Given the description of an element on the screen output the (x, y) to click on. 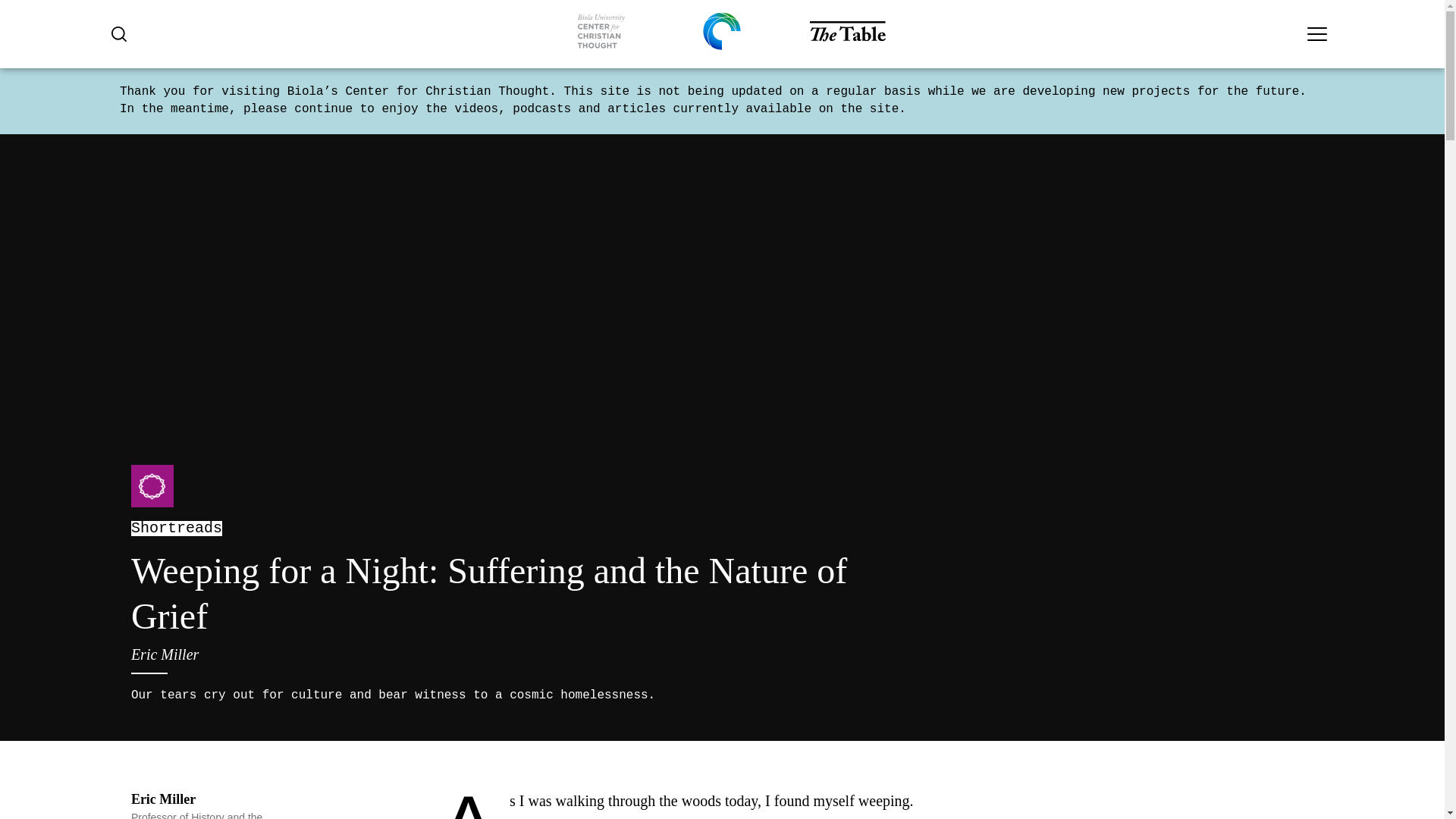
Eric Miller (163, 798)
The Table (847, 33)
Home Page (600, 34)
